Given the description of an element on the screen output the (x, y) to click on. 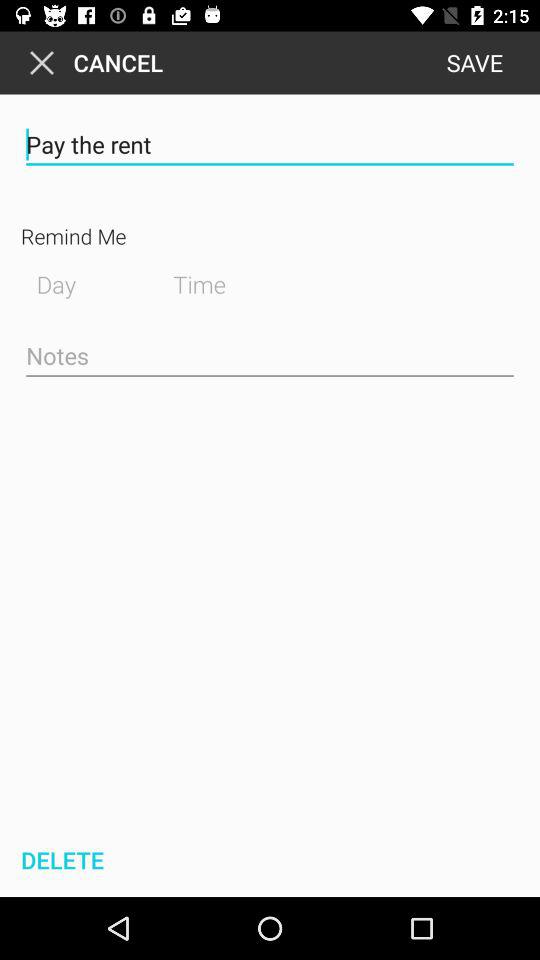
press the icon next to the cancel item (474, 62)
